Given the description of an element on the screen output the (x, y) to click on. 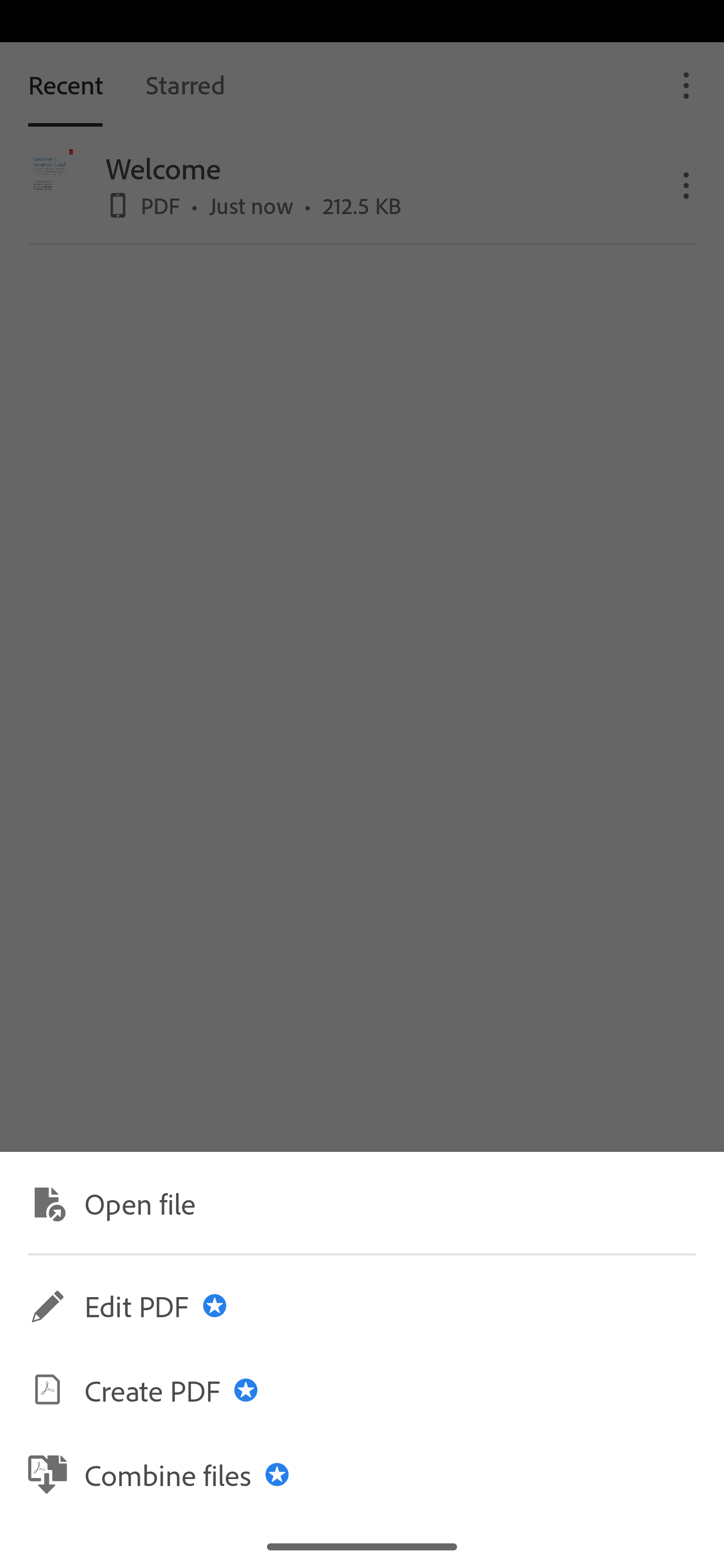
Open file (362, 1202)
Edit PDF Premium (362, 1305)
Create PDF Premium (362, 1389)
Combine files Premium (362, 1473)
